Given the description of an element on the screen output the (x, y) to click on. 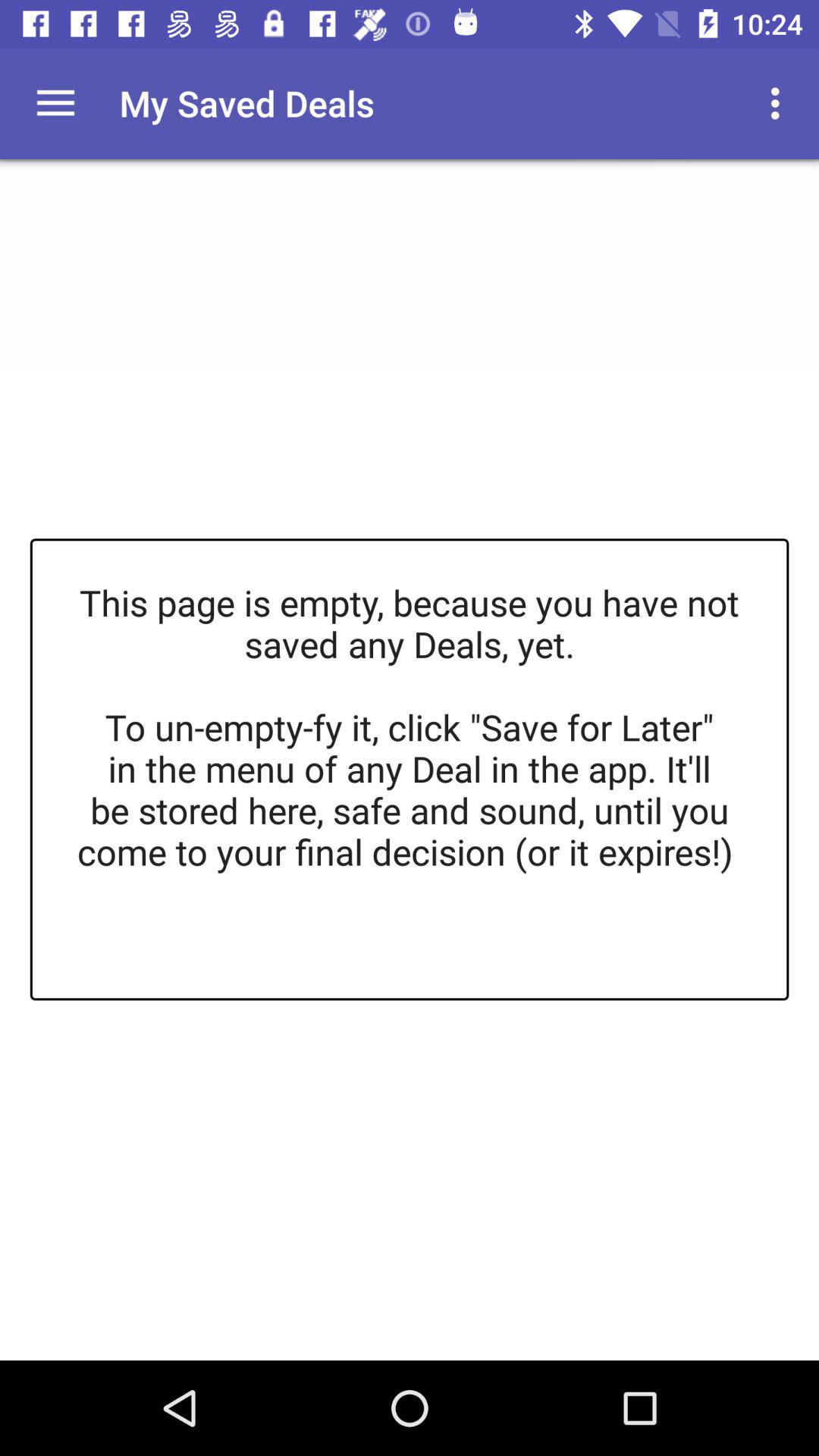
select the icon above this page is item (55, 103)
